Given the description of an element on the screen output the (x, y) to click on. 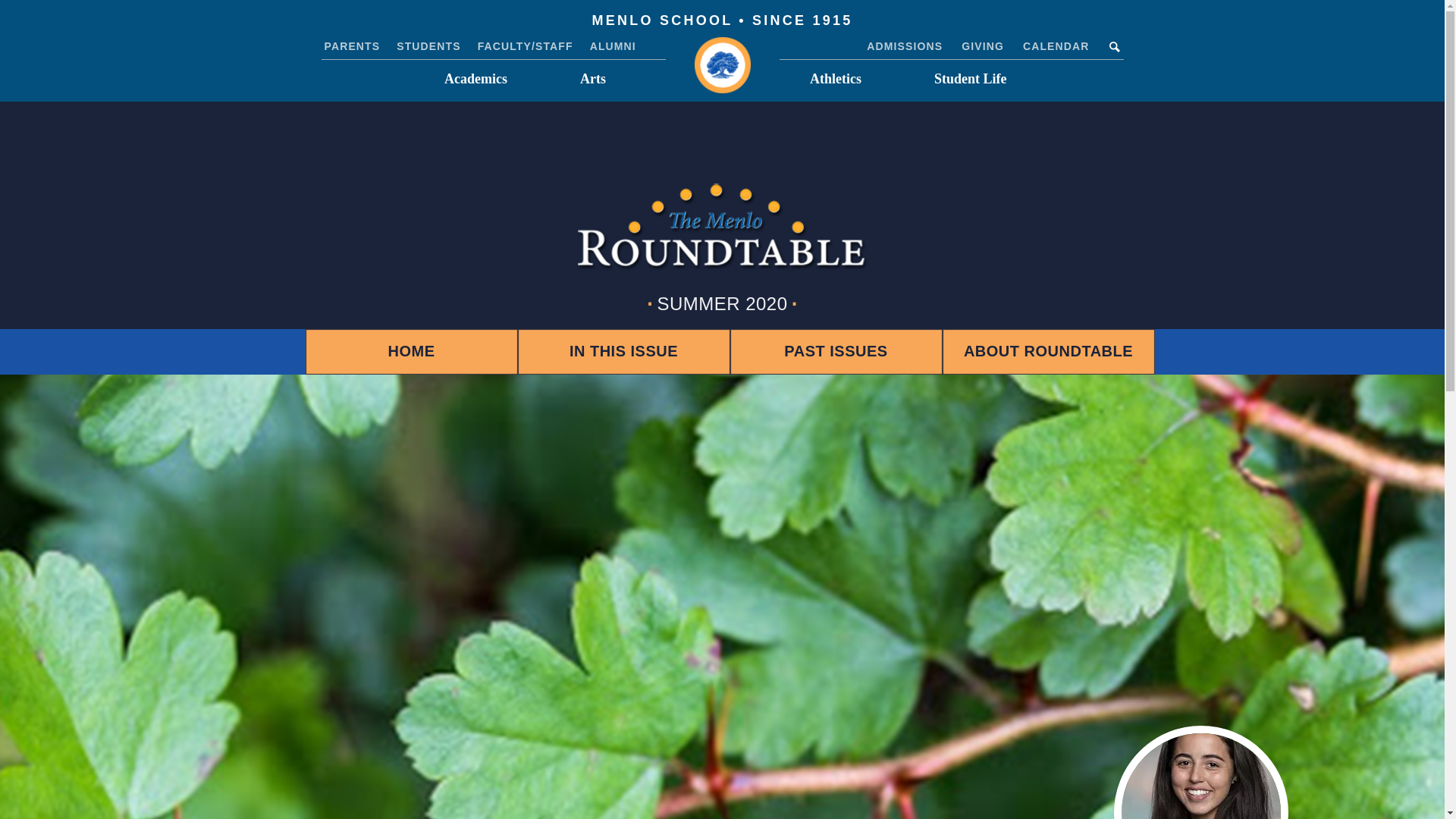
Academics (475, 79)
Arts (593, 79)
GIVING (982, 46)
Athletics (836, 79)
ALUMNI (612, 46)
ADMISSIONS (904, 46)
CALENDAR (1056, 46)
Student Life (970, 79)
STUDENTS (428, 46)
PARENTS (352, 46)
